Given the description of an element on the screen output the (x, y) to click on. 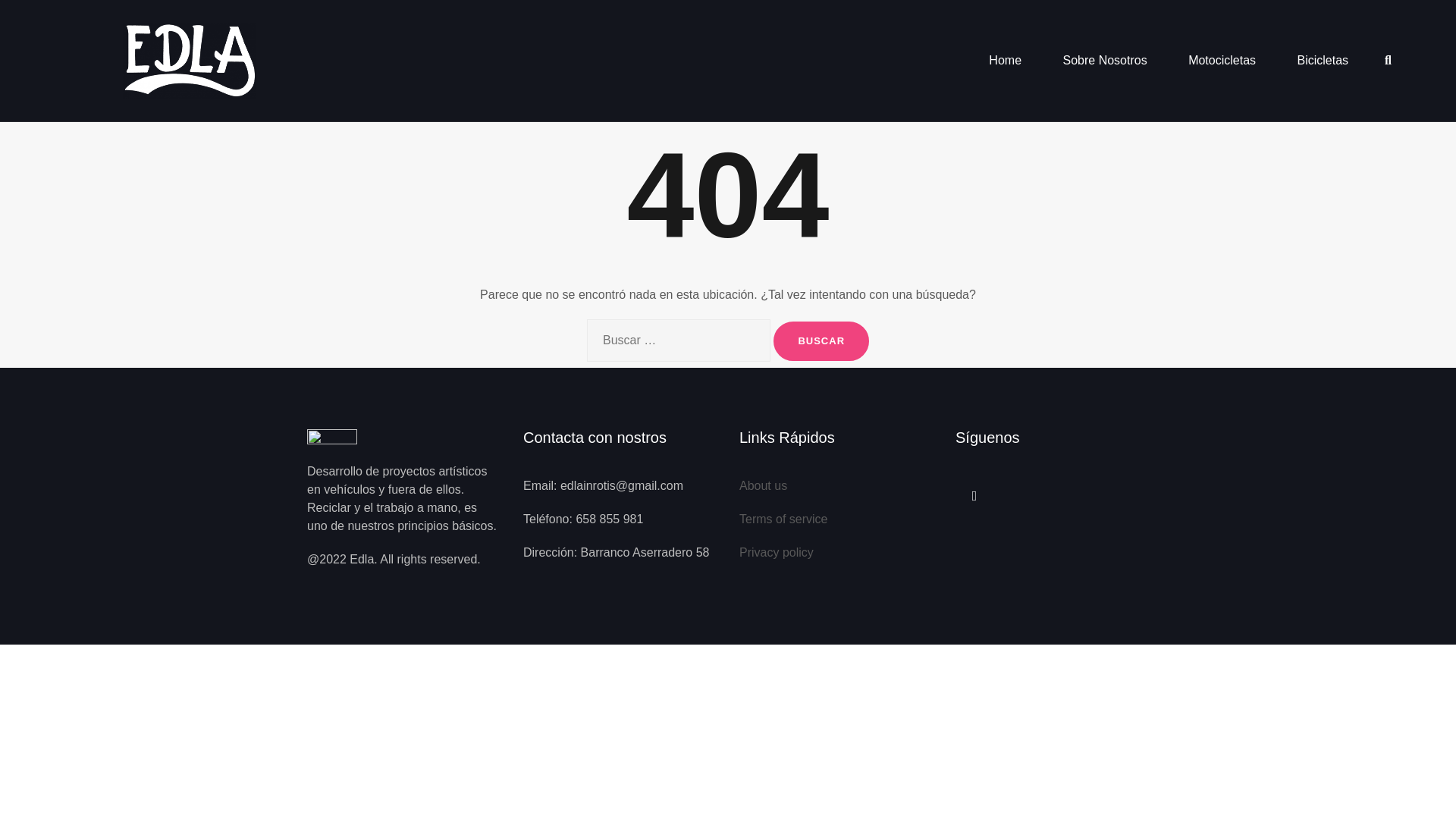
Privacy policy (776, 552)
Buscar (821, 341)
Sobre Nosotros (1104, 60)
About us (763, 485)
Bicicletas (1322, 60)
Terms of service (783, 518)
Buscar (821, 341)
Buscar (821, 341)
Home (1005, 60)
Motocicletas (1221, 60)
